Given the description of an element on the screen output the (x, y) to click on. 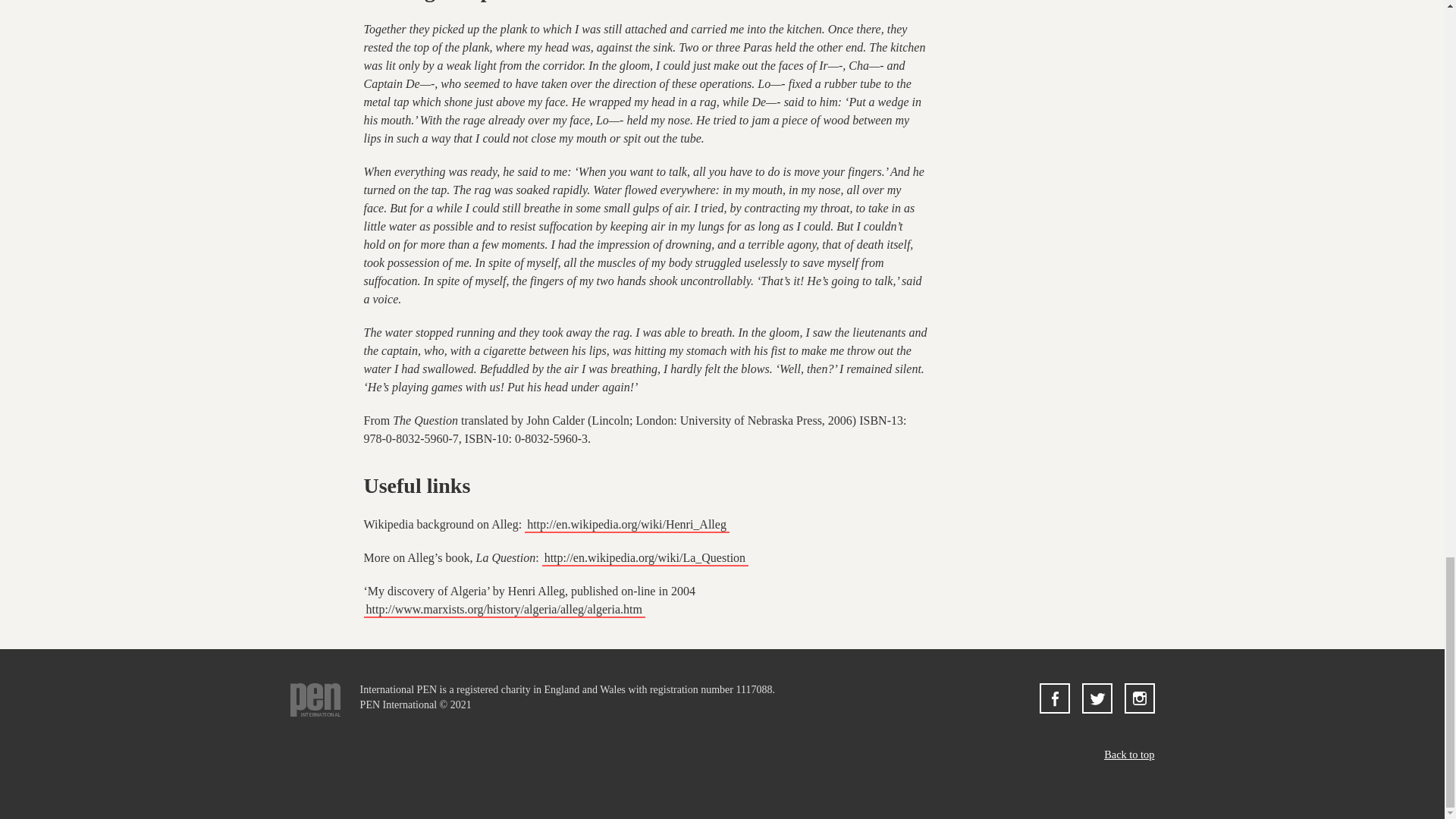
Group (1139, 708)
Back to top (1128, 754)
Group (1139, 698)
